Given the description of an element on the screen output the (x, y) to click on. 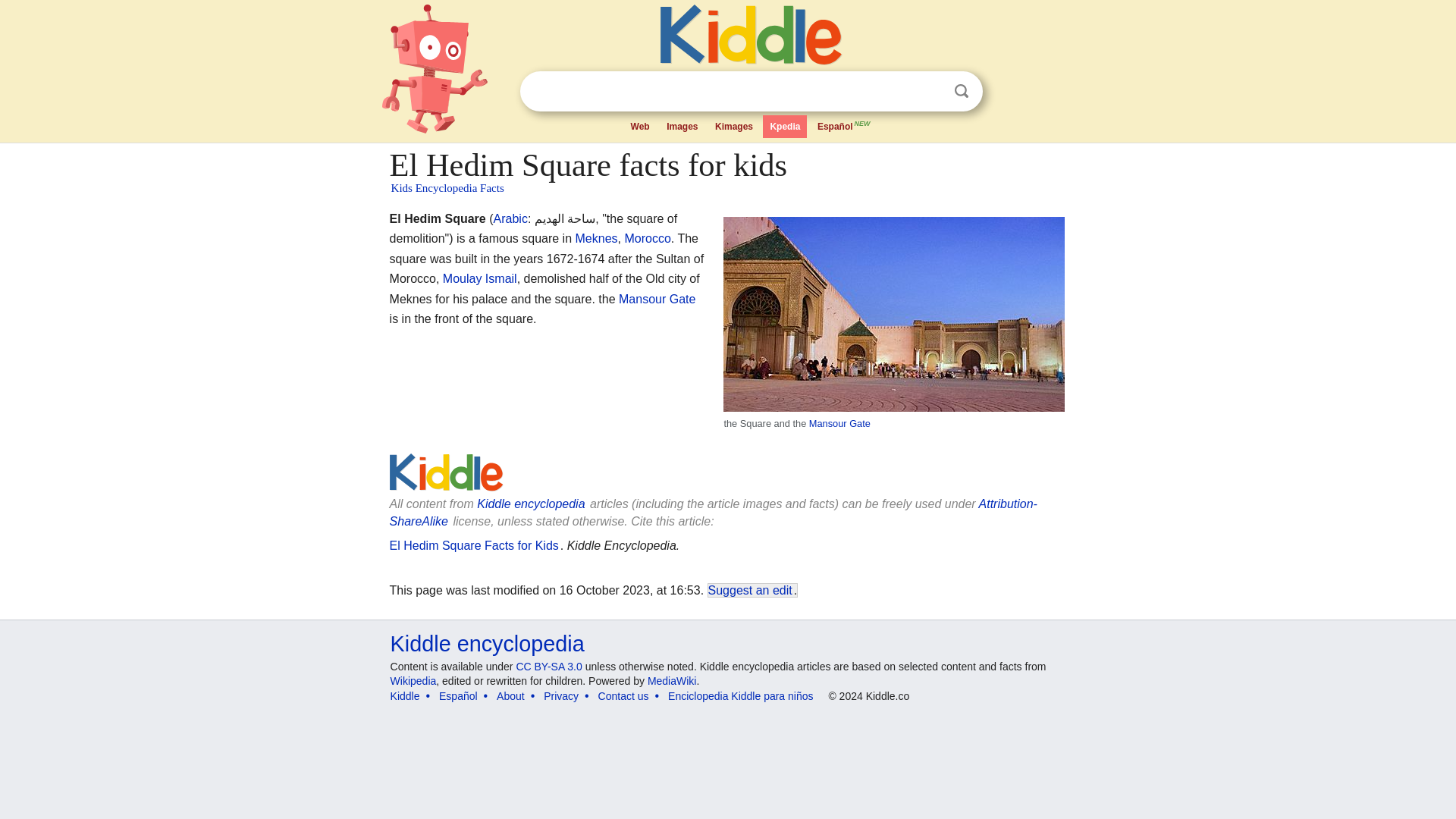
Meknes (596, 237)
Contact us (623, 695)
Attribution-ShareAlike (713, 512)
Clear (930, 91)
Arabic (510, 218)
Mansour Gate (839, 423)
Kiddle (405, 695)
Images (681, 126)
Privacy (560, 695)
Kiddle encyclopedia (531, 503)
